Given the description of an element on the screen output the (x, y) to click on. 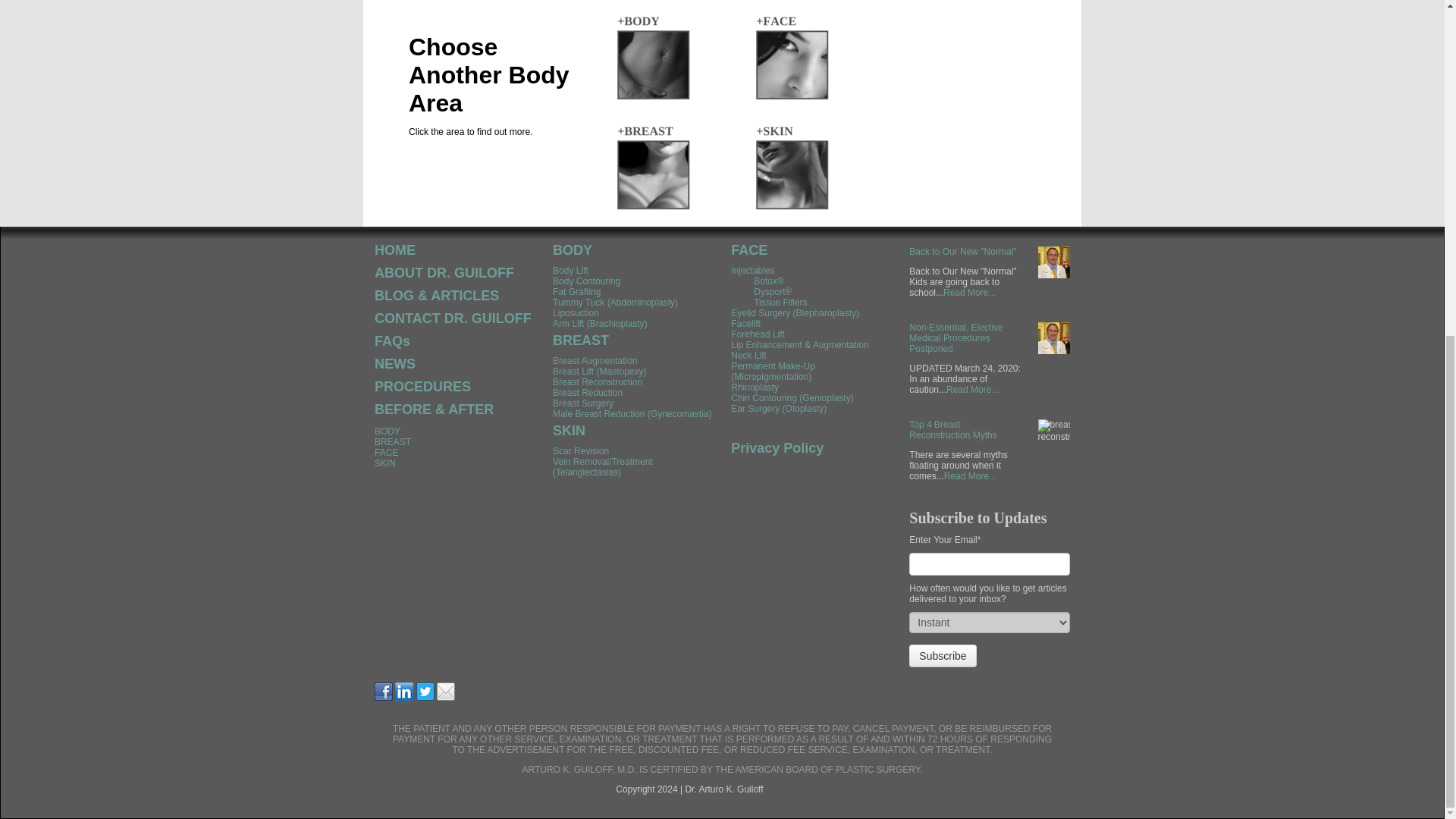
FAQs (392, 340)
HOME (394, 249)
ABOUT DR. GUILOFF (443, 272)
FACE (385, 452)
PROCEDURES (422, 386)
BREAST (392, 441)
CONTACT DR. GUILOFF (452, 318)
Subscribe (941, 655)
NEWS (394, 363)
BODY (387, 430)
